Given the description of an element on the screen output the (x, y) to click on. 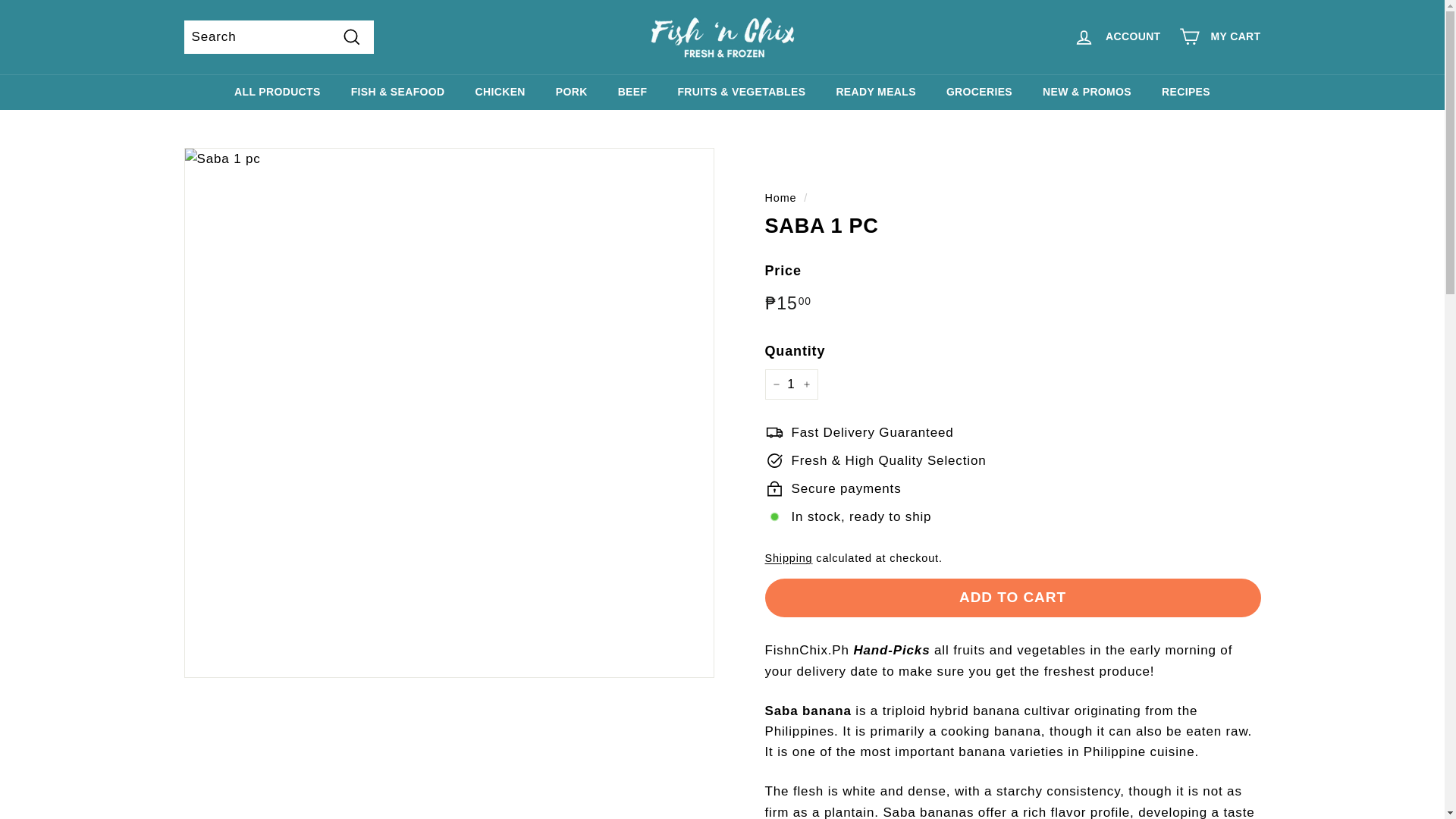
ALL PRODUCTS (277, 91)
Back to the frontpage (780, 197)
CHICKEN (500, 91)
ACCOUNT (1116, 36)
1 (790, 383)
BEEF (632, 91)
GROCERIES (979, 91)
PORK (571, 91)
READY MEALS (876, 91)
